Given the description of an element on the screen output the (x, y) to click on. 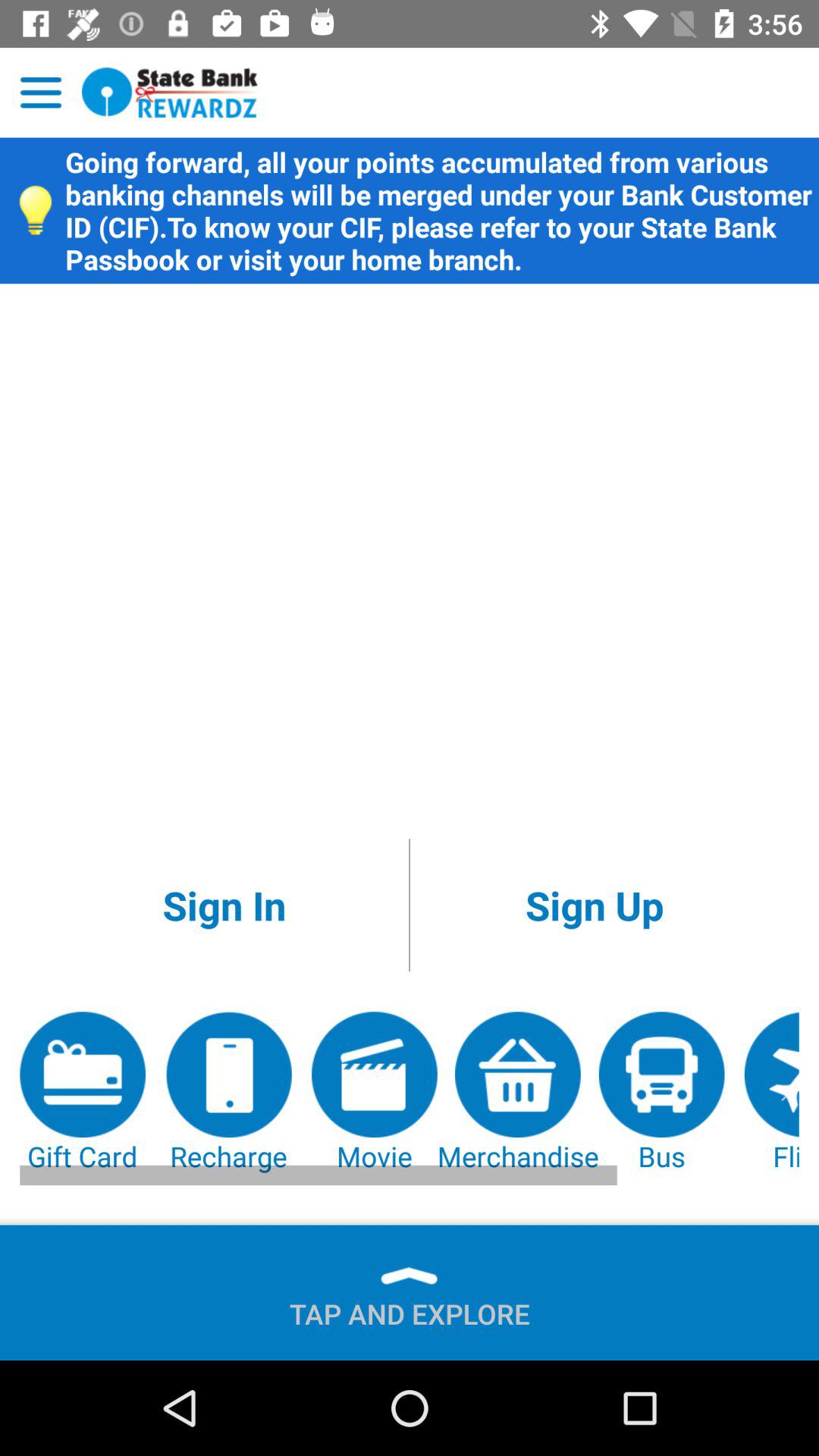
press the app to the left of the merchandise (374, 1093)
